Given the description of an element on the screen output the (x, y) to click on. 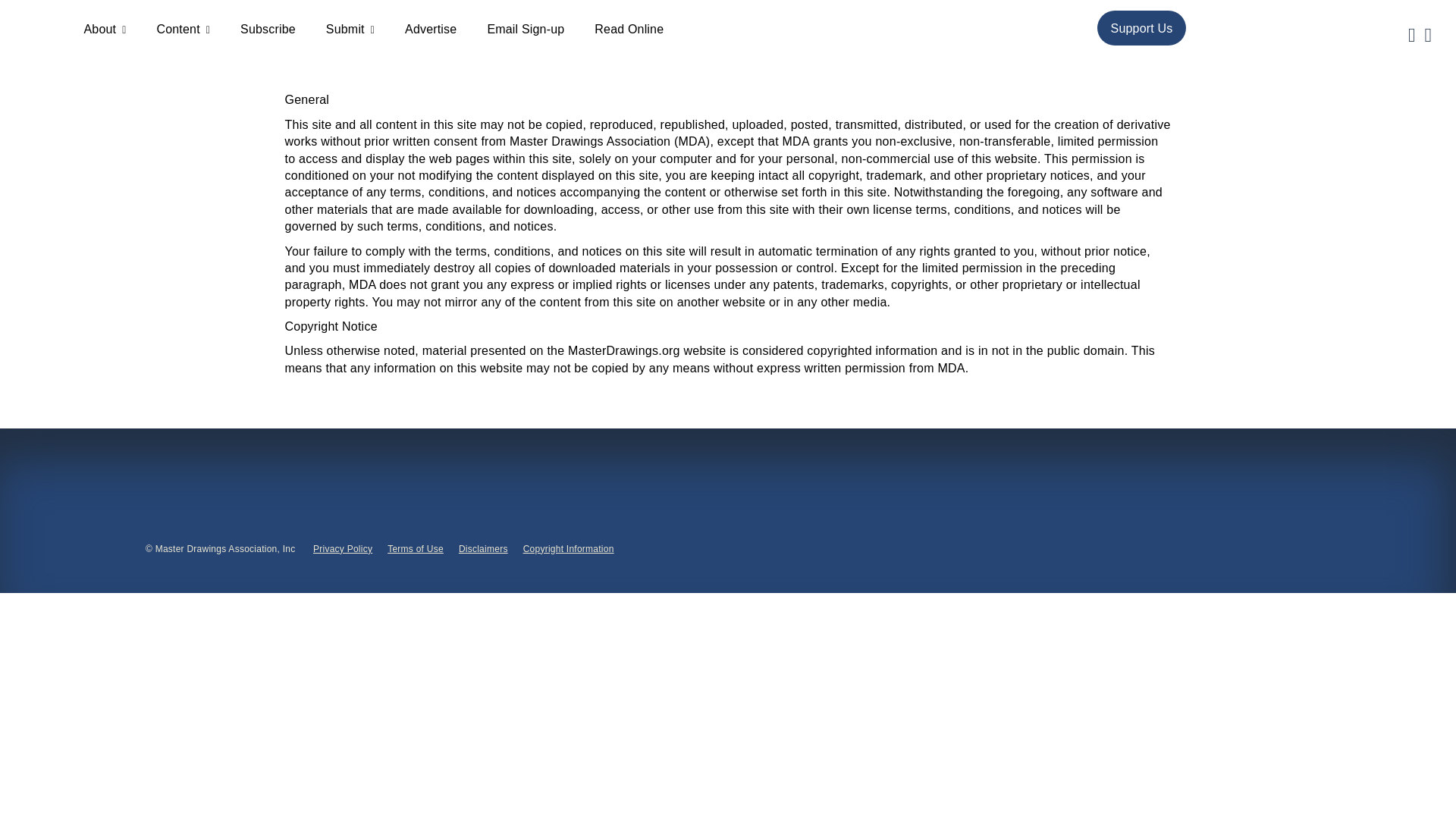
Support Us (1141, 27)
Read Online (628, 28)
Submit (350, 28)
About (103, 28)
Content (182, 28)
Subscribe (267, 28)
Advertise (430, 28)
Email Sign-up (525, 28)
